Given the description of an element on the screen output the (x, y) to click on. 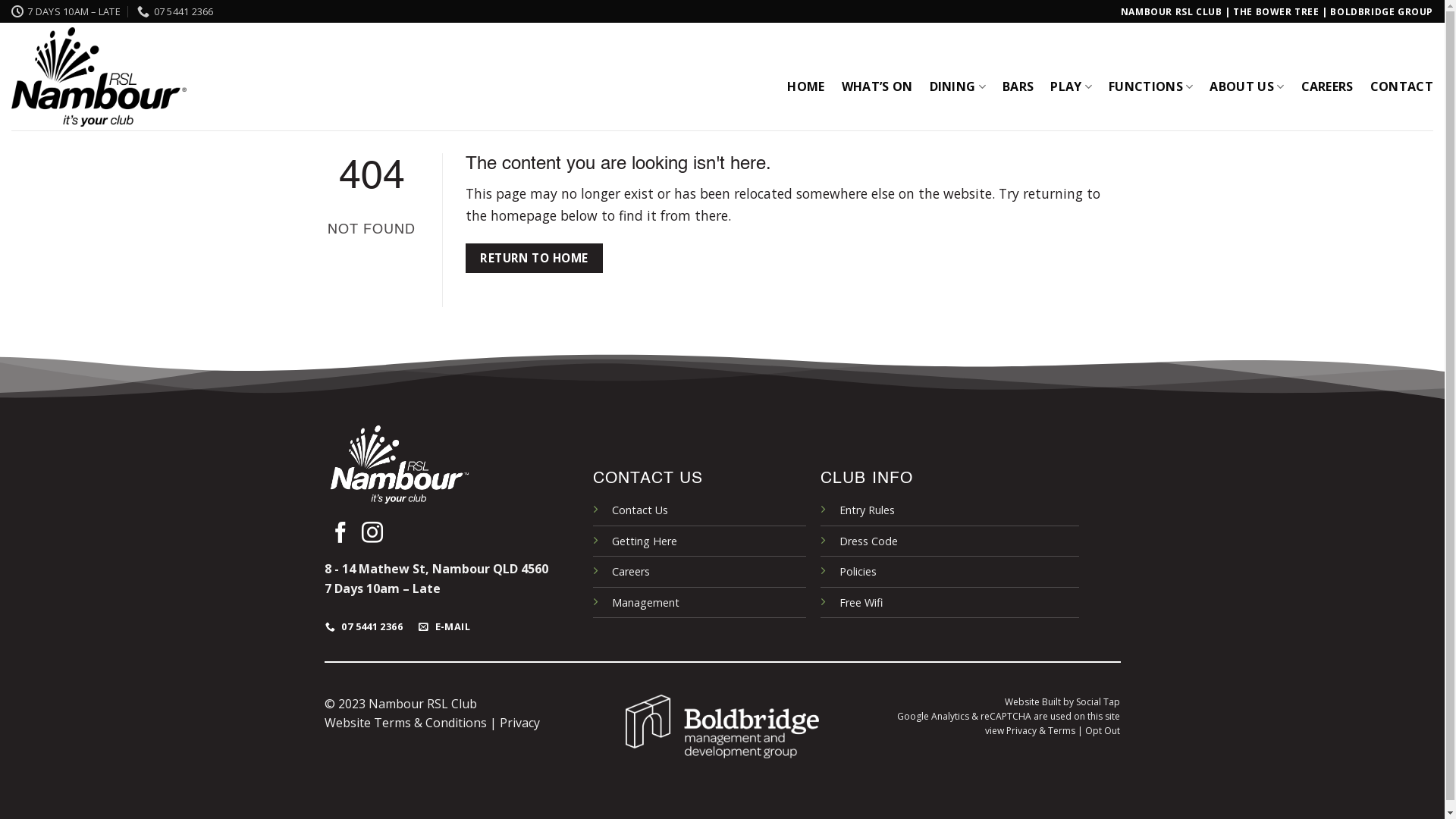
Opt Out Element type: text (1102, 730)
ABOUT US Element type: text (1246, 86)
CONTACT Element type: text (1401, 86)
CAREERS Element type: text (1327, 86)
Privacy & Terms Element type: text (1040, 730)
Entry Rules Element type: text (866, 509)
Privacy Element type: text (518, 722)
NAMBOUR RSL CLUB Element type: text (1171, 11)
BARS Element type: text (1017, 86)
FUNCTIONS Element type: text (1150, 86)
Careers Element type: text (630, 571)
Free Wifi Element type: text (860, 602)
Contact Us Element type: text (639, 509)
Website Terms & Conditions Element type: text (405, 722)
DINING Element type: text (957, 86)
Follow on Facebook Element type: hover (340, 534)
THE BOWER TREE Element type: text (1275, 11)
BOLDBRIDGE GROUP Element type: text (1381, 11)
Management Element type: text (645, 602)
PLAY Element type: text (1071, 86)
Nambour RSL Club Element type: hover (98, 76)
07 5441 2366 Element type: text (364, 626)
HOME Element type: text (805, 86)
Dress Code Element type: text (868, 540)
E-MAIL Element type: text (444, 626)
Social Tap Element type: text (1098, 701)
Policies Element type: text (857, 571)
Follow on Instagram Element type: hover (371, 534)
07 5441 2366 Element type: text (175, 11)
Getting Here Element type: text (644, 540)
Skip to content Element type: text (0, 0)
RETURN TO HOME Element type: text (534, 258)
